Given the description of an element on the screen output the (x, y) to click on. 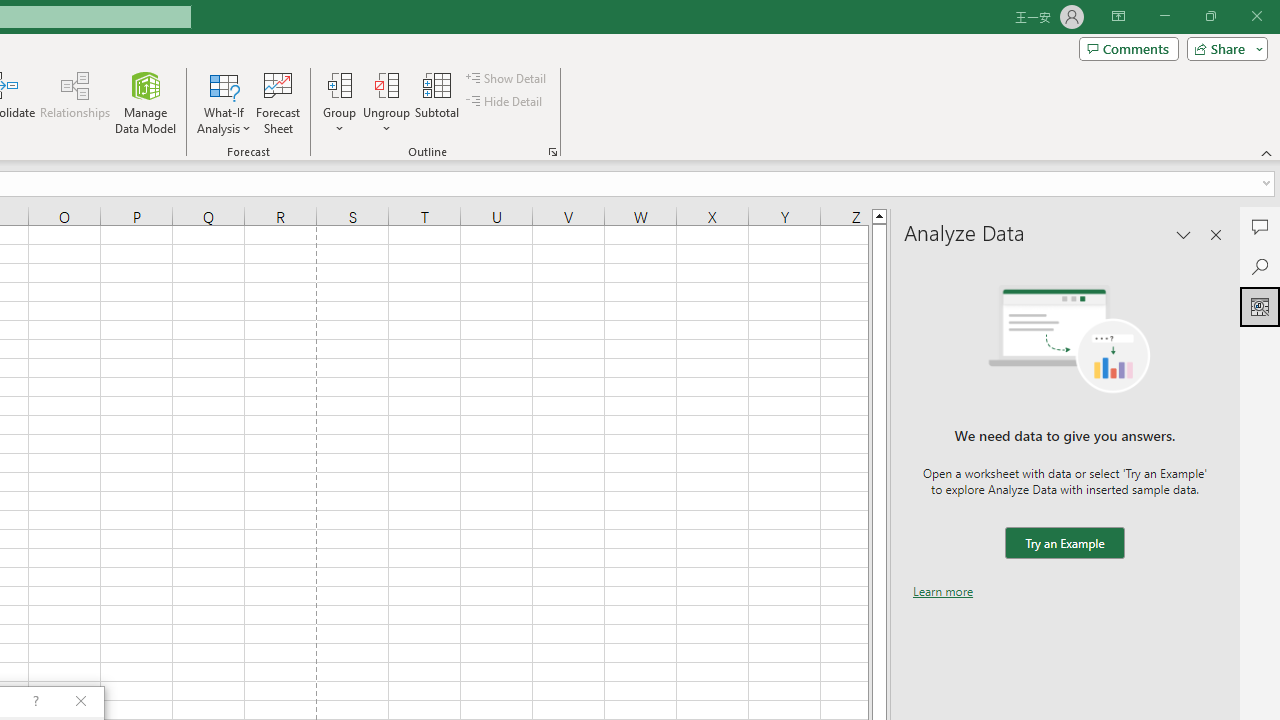
We need data to give you answers. Try an Example (1064, 543)
Relationships (75, 102)
